Given the description of an element on the screen output the (x, y) to click on. 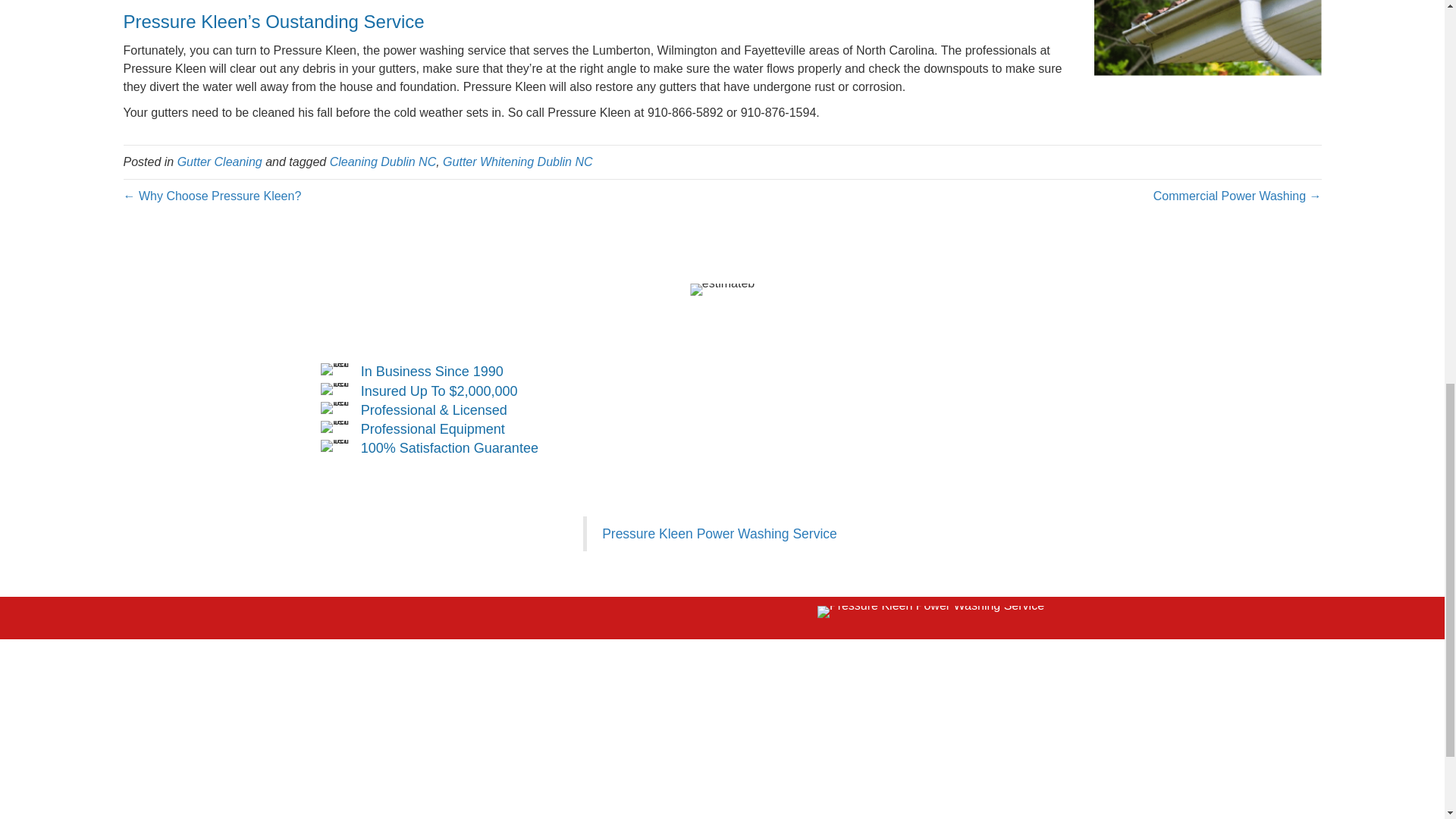
Gutter Whitening Dublin NC (517, 161)
Residential (381, 707)
About Us (435, 707)
Pressure Kleen Power Washing Service (719, 533)
Cleaning Dublin NC (383, 161)
Gutter Cleaning (219, 161)
Home (331, 707)
Pressure Kleen Power Washing Service (929, 612)
